Given the description of an element on the screen output the (x, y) to click on. 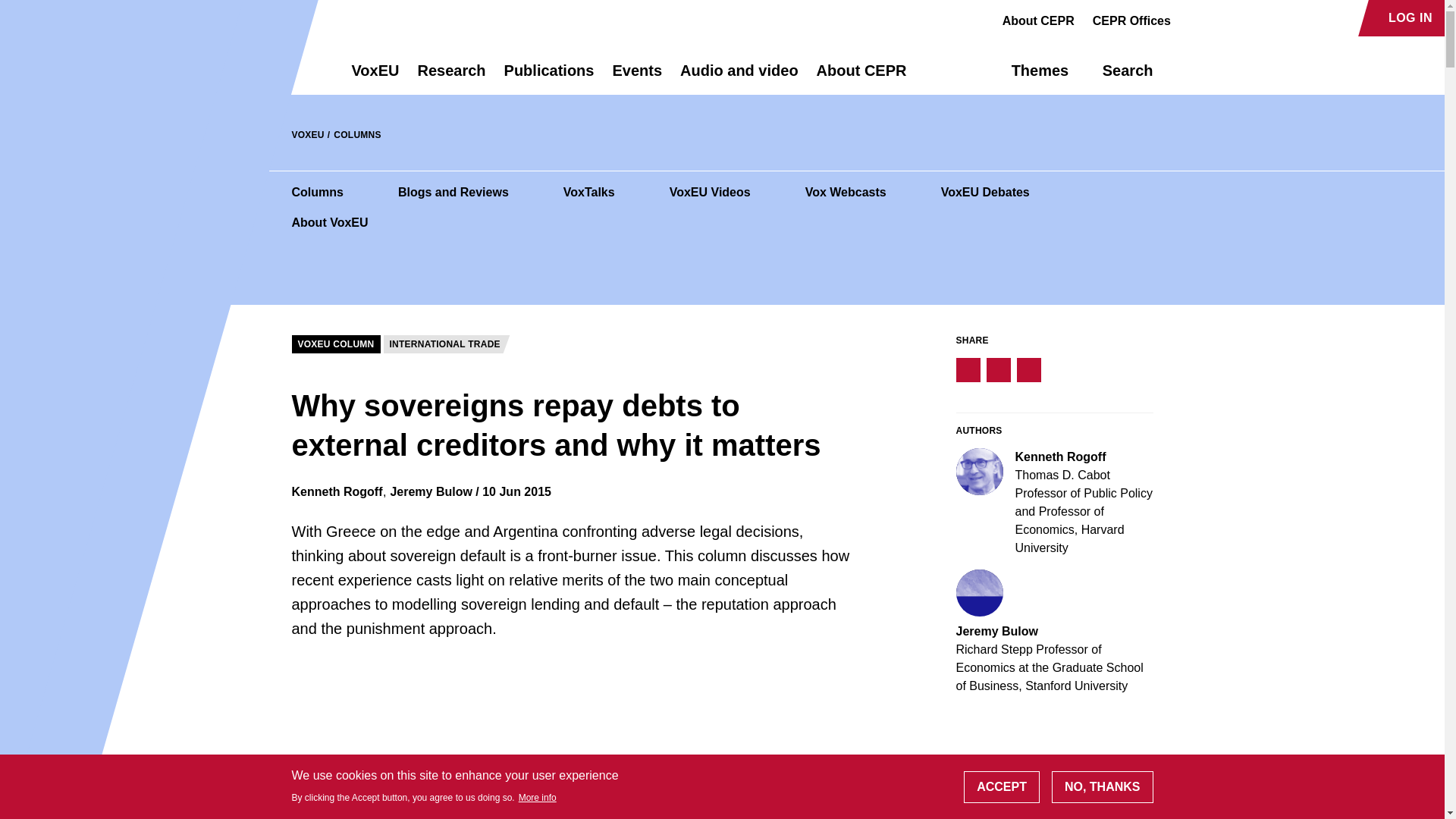
Publications (548, 77)
Go to Linkedin profile (1243, 18)
Audio and video (738, 77)
Events (636, 77)
VoxEU (375, 77)
Go to Facebook profile (1190, 17)
Research (450, 77)
Return to the homepage (293, 69)
Go to Audioboom profile (1217, 17)
